Given the description of an element on the screen output the (x, y) to click on. 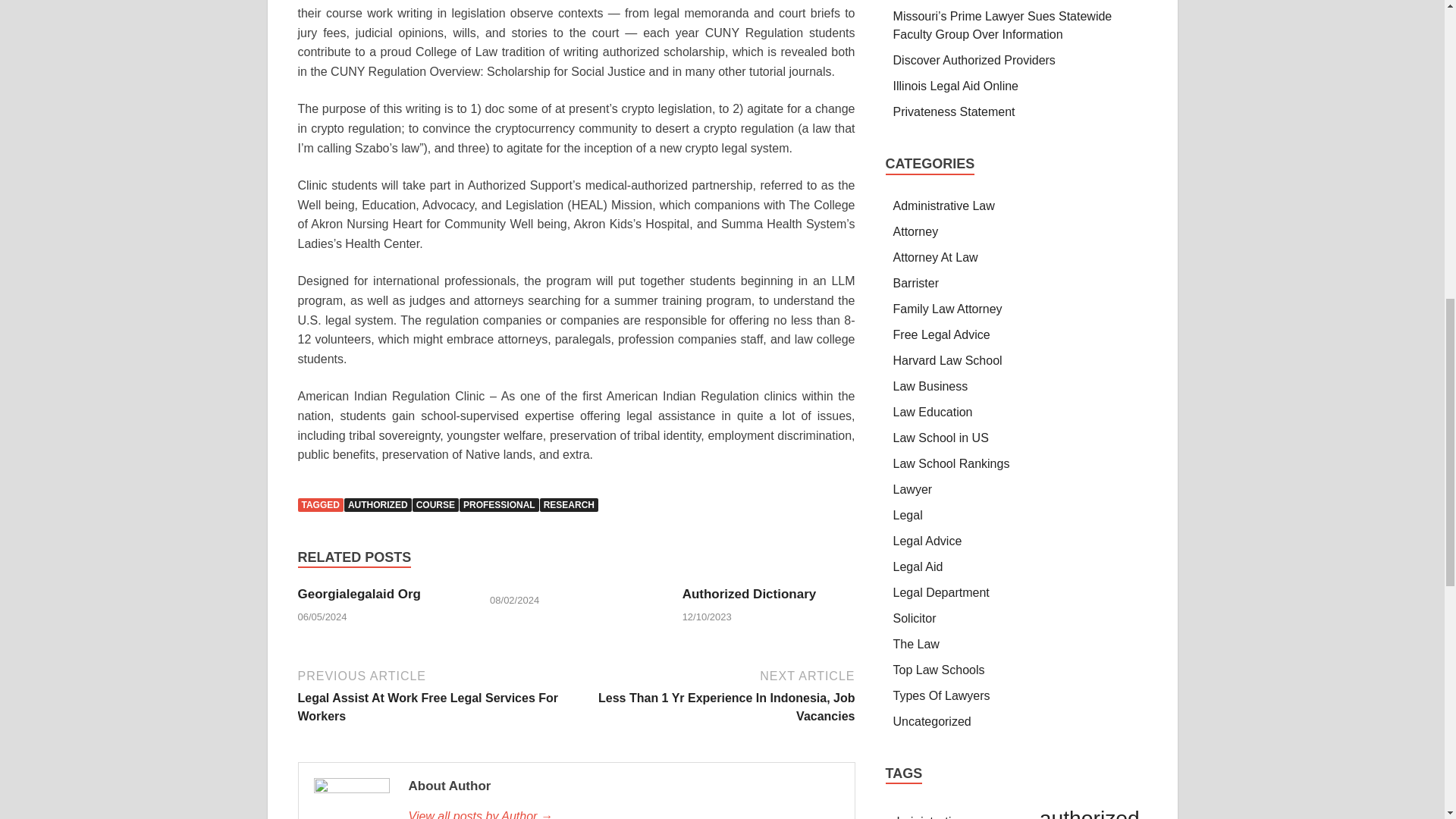
Georgialegalaid Org (358, 594)
Author (622, 813)
Authorized Dictionary (749, 594)
